Given the description of an element on the screen output the (x, y) to click on. 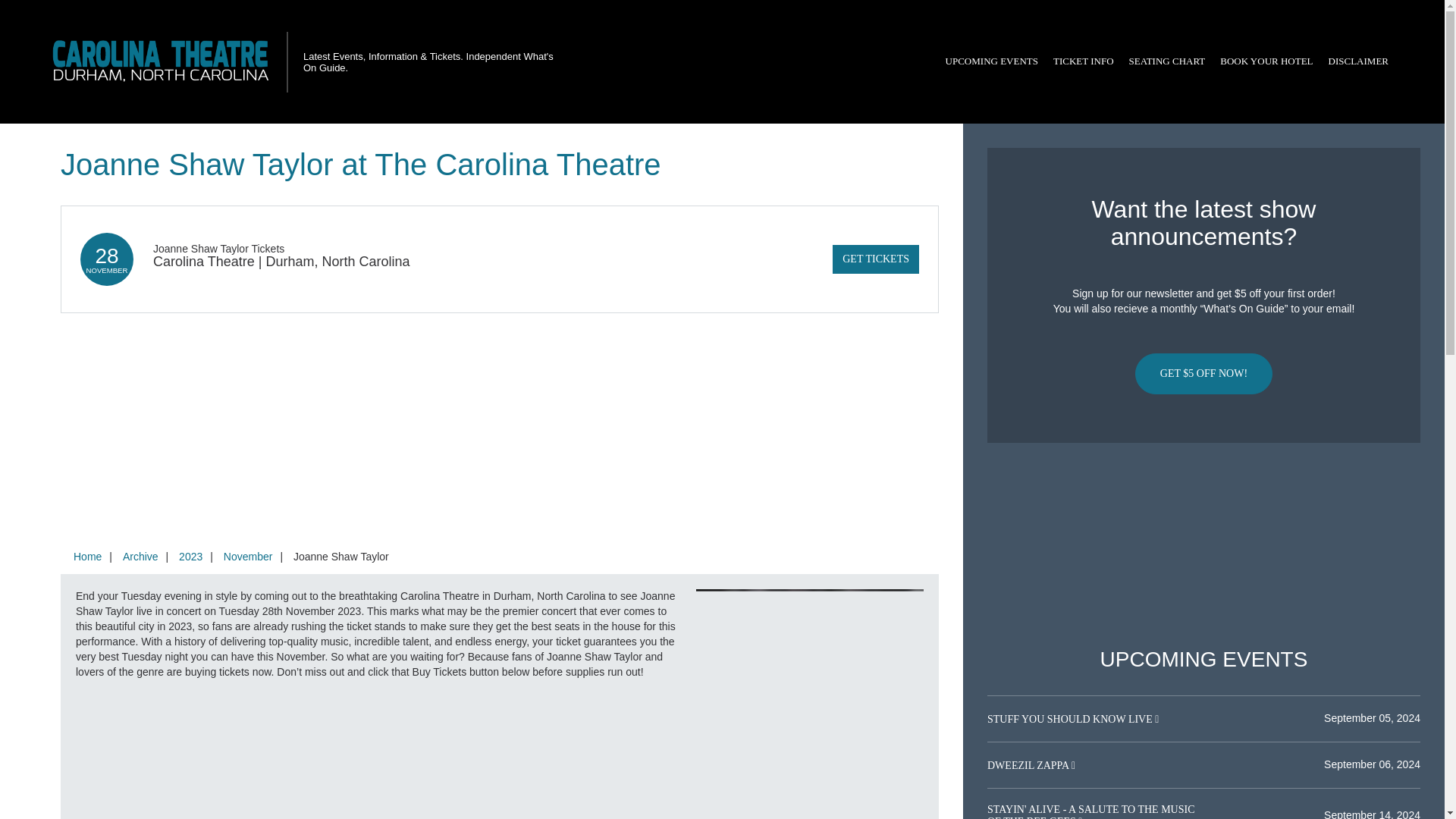
BOOK YOUR HOTEL (1266, 61)
DISCLAIMER (1358, 61)
2023 (190, 556)
Advertisement (1204, 545)
November (248, 556)
DWEEZIL ZAPPA (1029, 765)
Joanne Shaw Taylor Tickets (217, 248)
TICKET INFO (1083, 61)
GET TICKETS (875, 258)
Archive (140, 556)
